Given the description of an element on the screen output the (x, y) to click on. 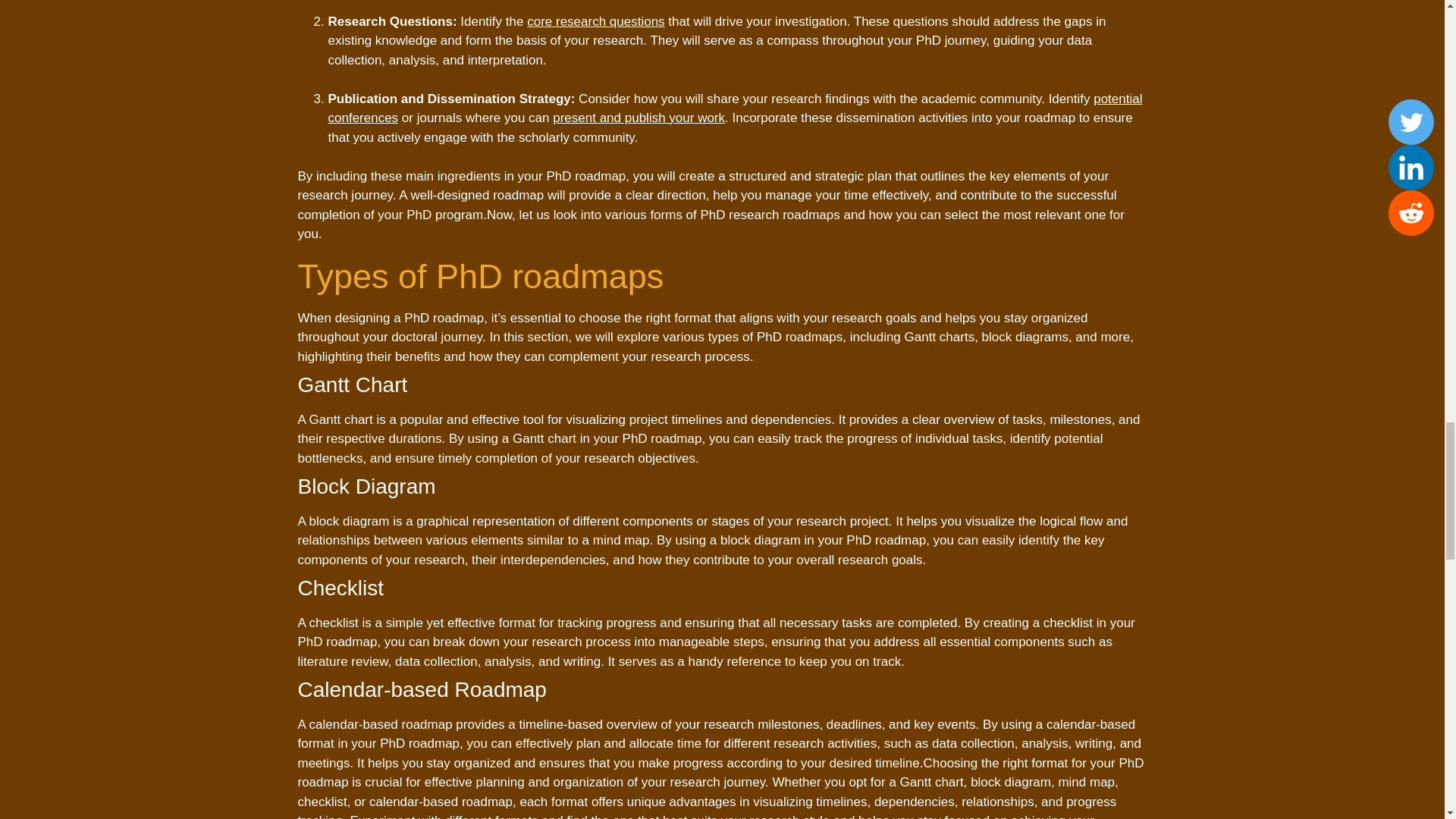
present and publish your work (639, 117)
core research questions (595, 20)
potential conferences (734, 107)
